Given the description of an element on the screen output the (x, y) to click on. 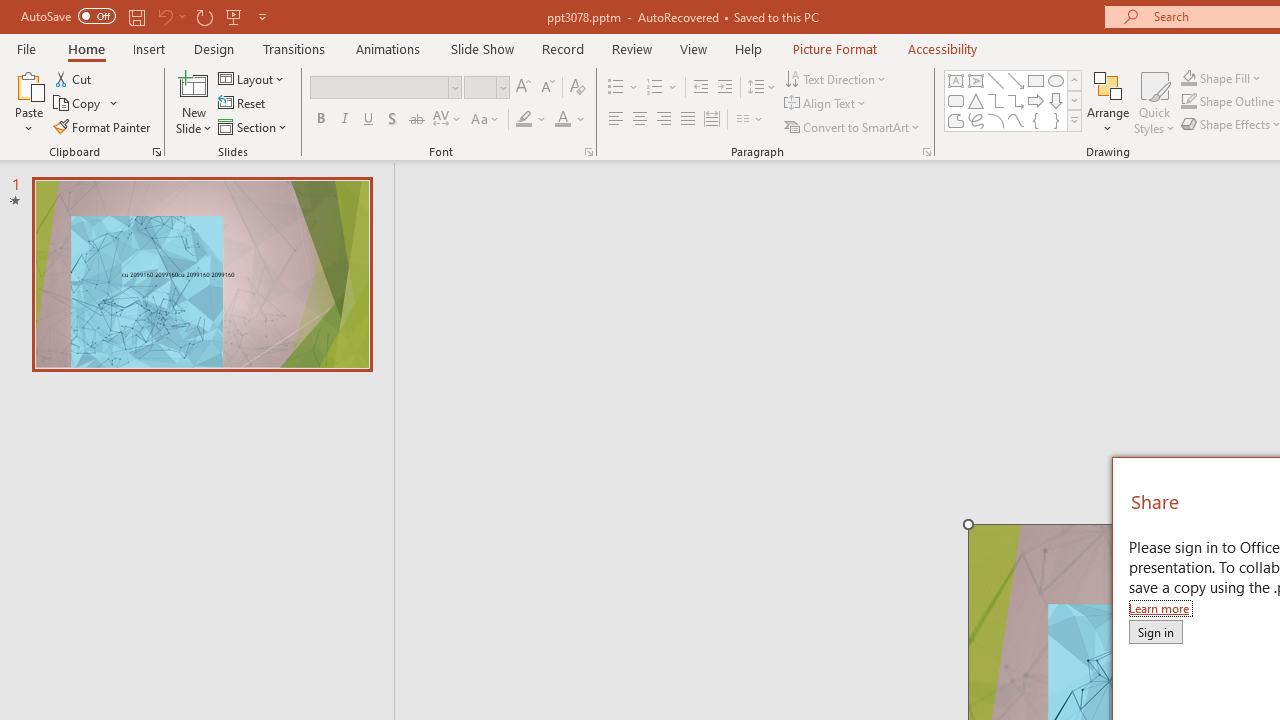
Learn more (1160, 608)
